Given the description of an element on the screen output the (x, y) to click on. 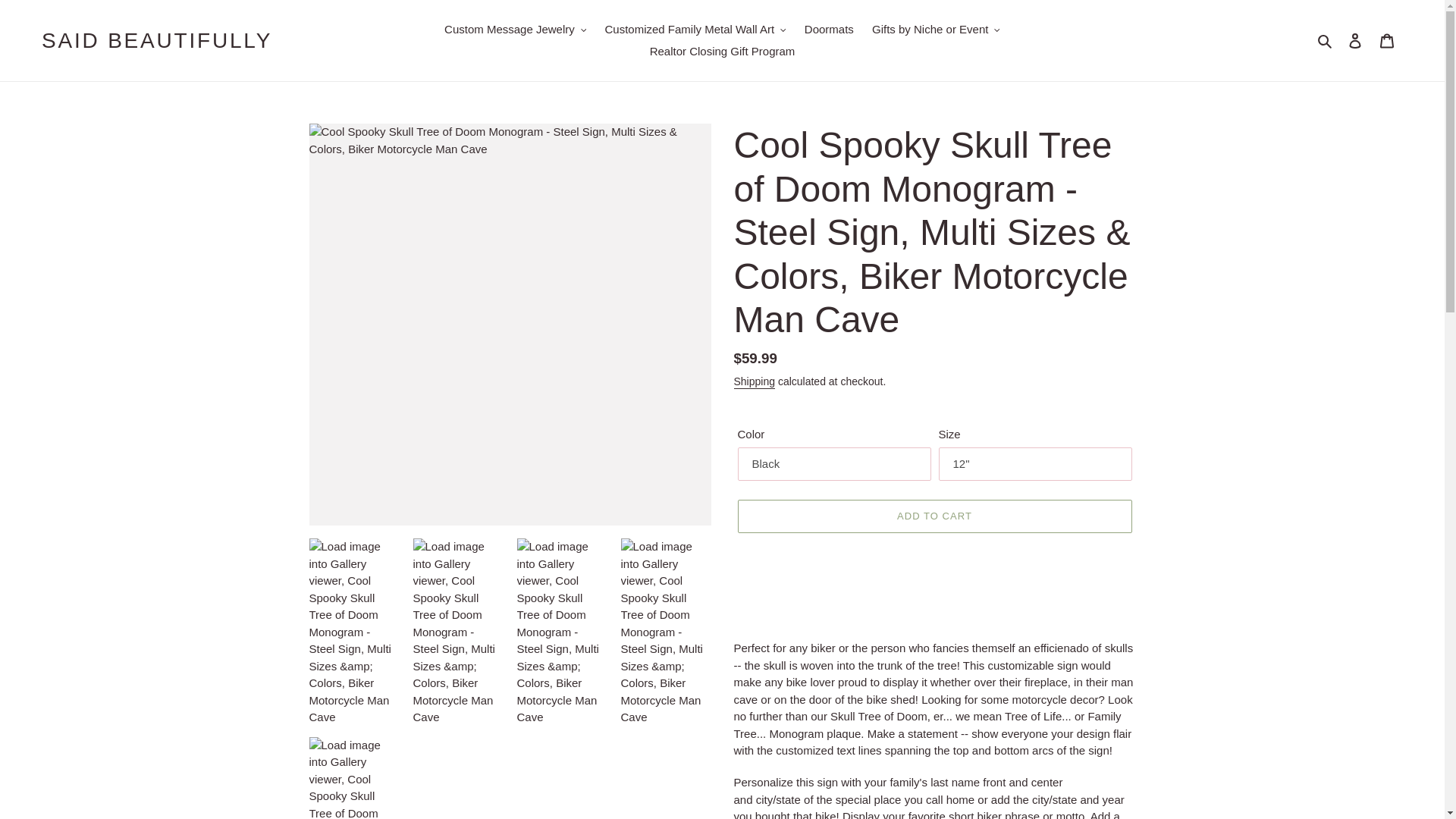
Custom Message Jewelry (515, 29)
Customized Family Metal Wall Art (694, 29)
Doormats (828, 29)
SAID BEAUTIFULLY (157, 40)
